Given the description of an element on the screen output the (x, y) to click on. 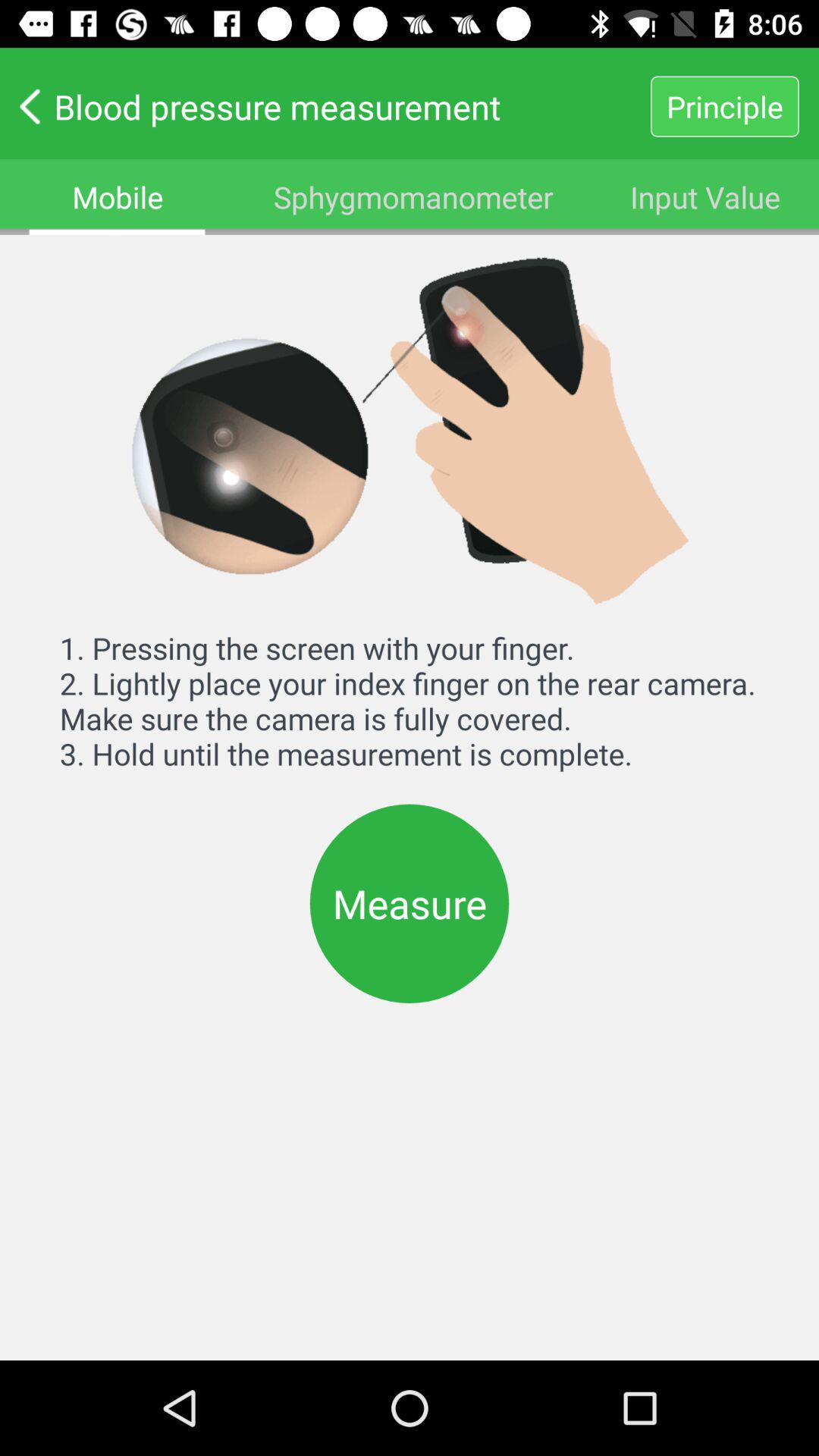
launch item above input value icon (724, 106)
